Given the description of an element on the screen output the (x, y) to click on. 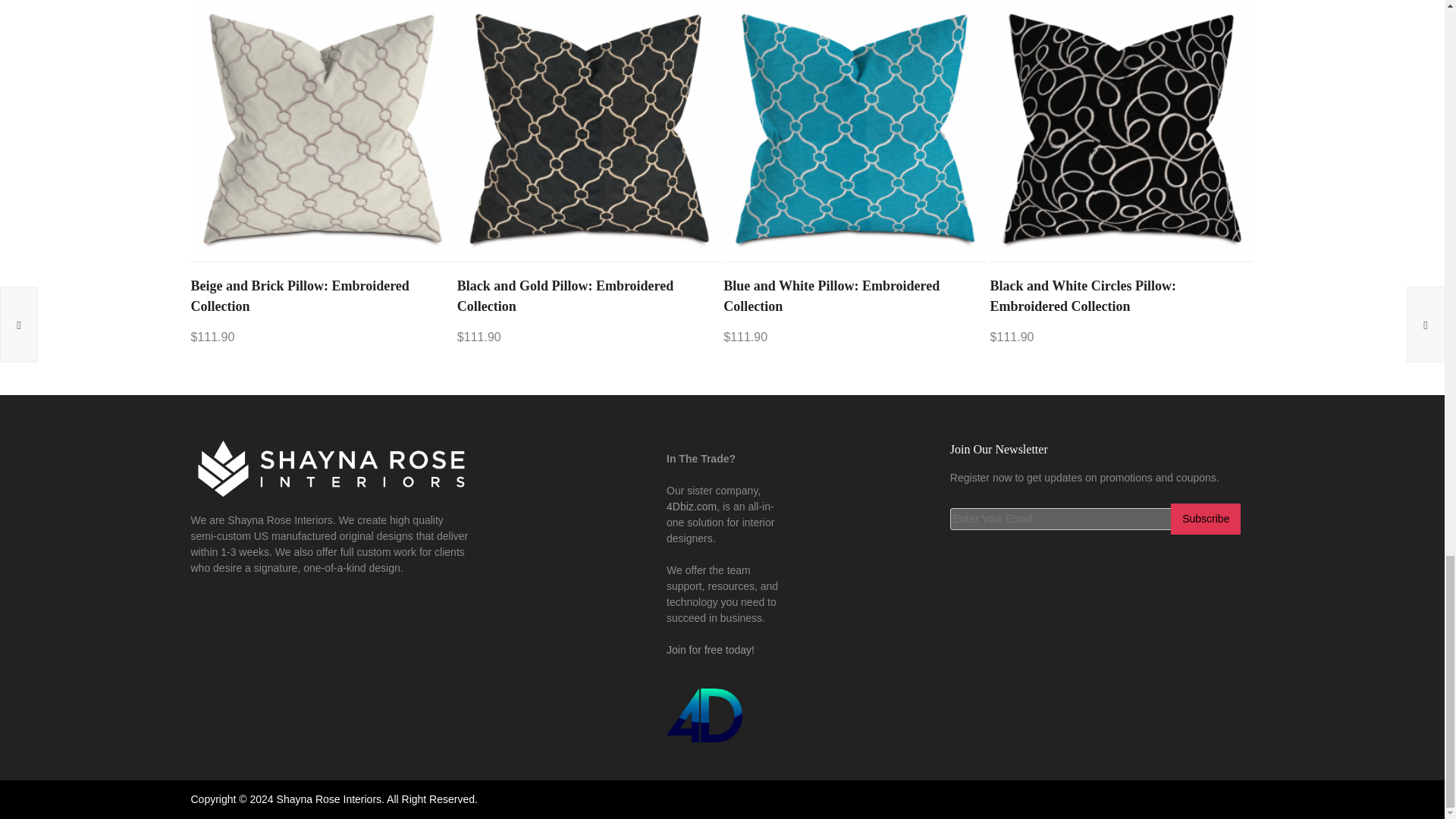
Subscribe (1205, 518)
